Given the description of an element on the screen output the (x, y) to click on. 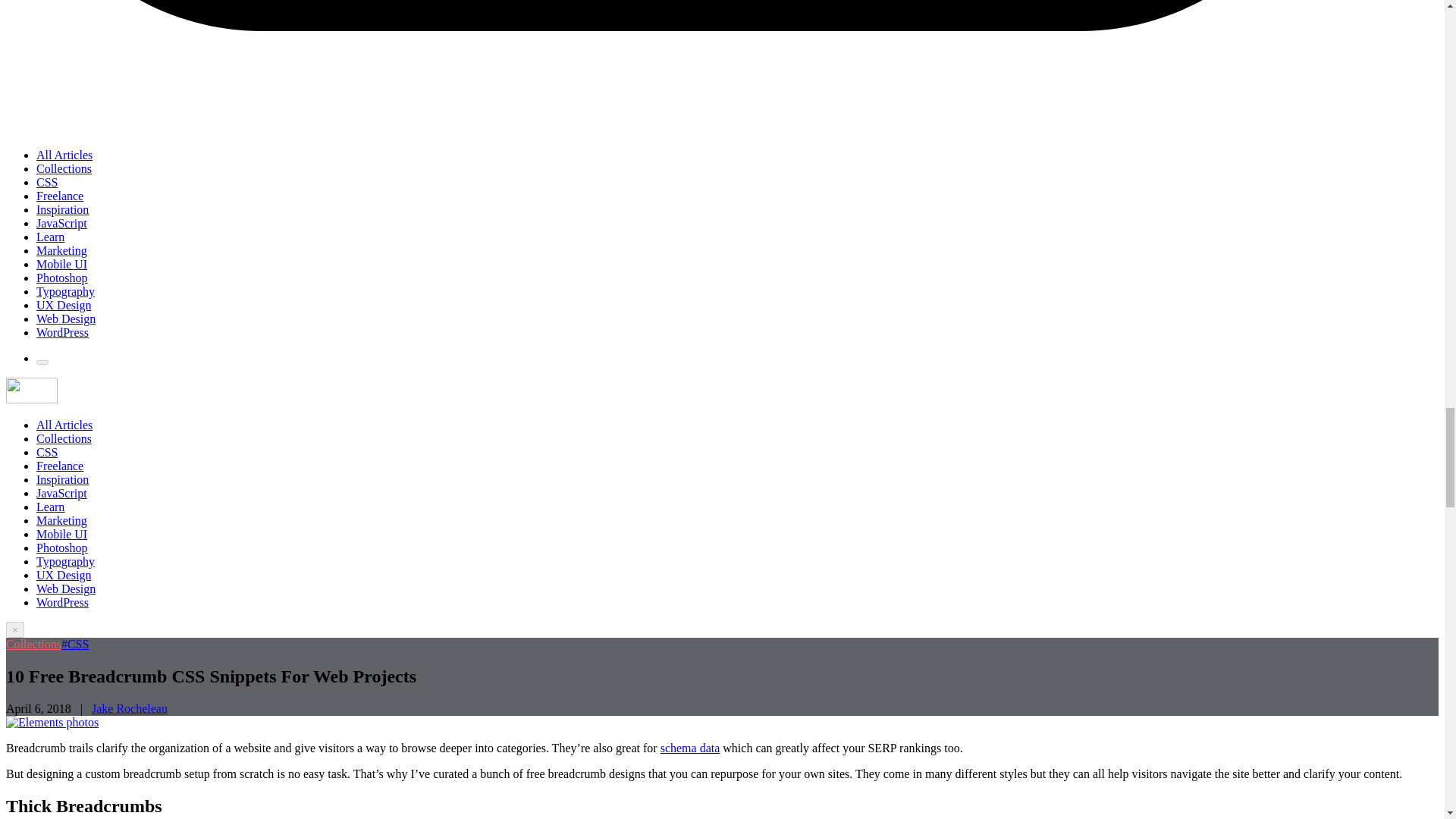
All Articles (64, 424)
UX Design (63, 574)
WordPress (62, 332)
Collections (63, 168)
Inspiration (62, 209)
Web Design (66, 318)
Typography (65, 561)
Typography (65, 291)
JavaScript (61, 223)
UX Design (63, 305)
Photoshop (61, 277)
Freelance (59, 195)
Web Design (66, 588)
Inspiration (62, 479)
Freelance (59, 465)
